Given the description of an element on the screen output the (x, y) to click on. 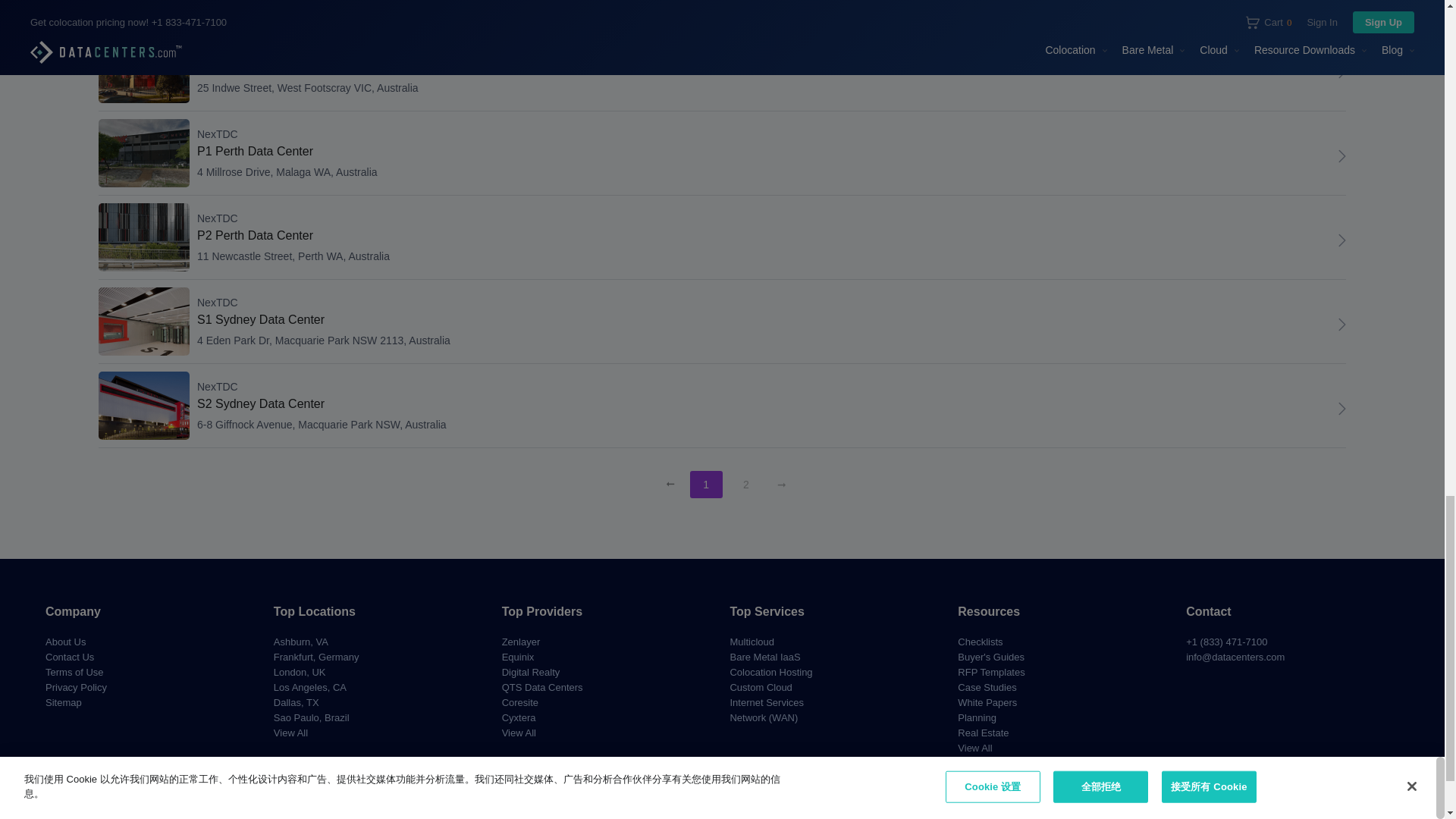
Chat (1342, 72)
Chat (1342, 408)
Chat (1342, 324)
Chat (1342, 156)
Chat (1342, 239)
